Given the description of an element on the screen output the (x, y) to click on. 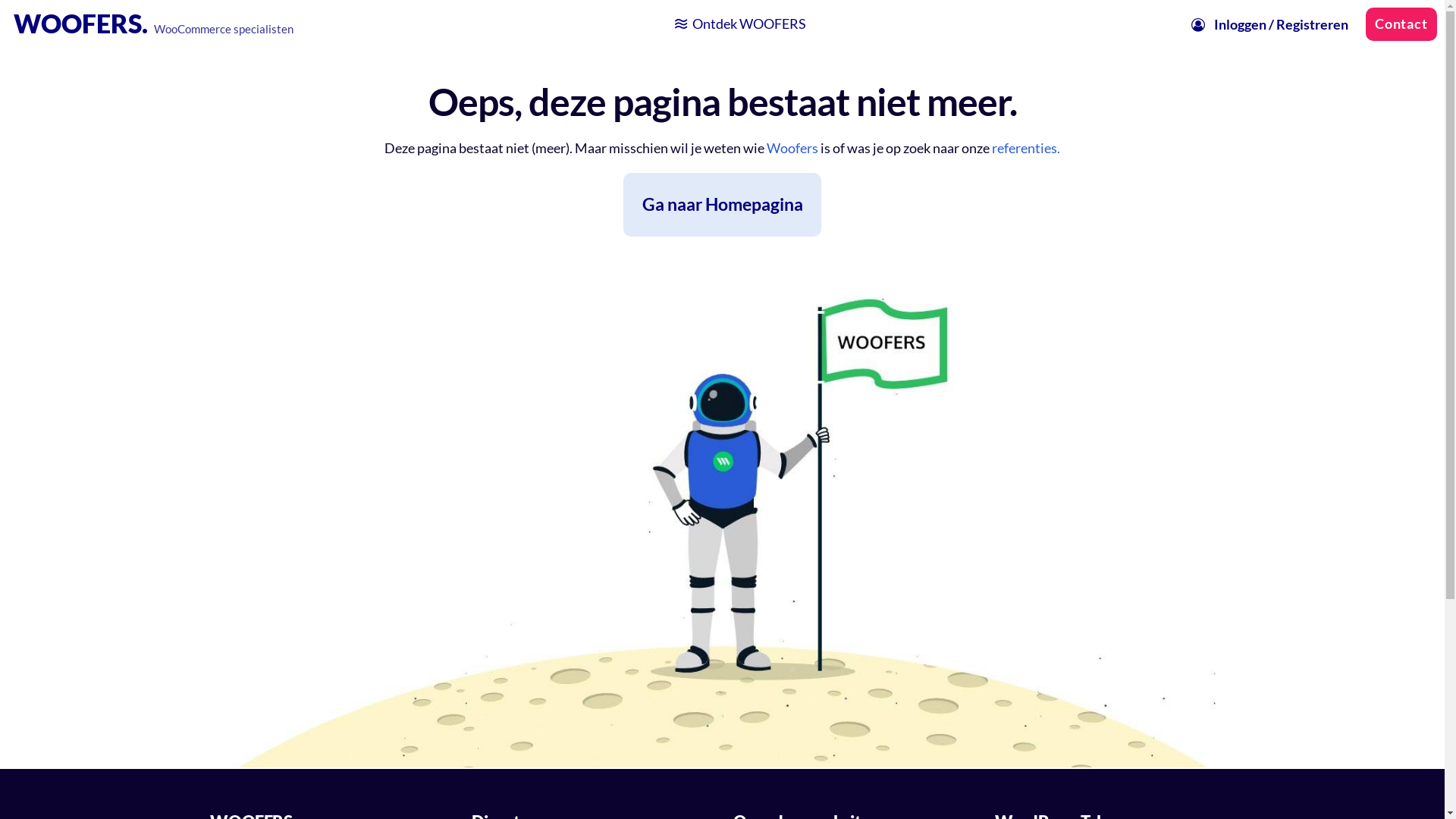
Contact Element type: text (1401, 23)
Ontdek WOOFERS Element type: text (738, 24)
referenties. Element type: text (1025, 148)
WOOFERS.WooCommerce specialisten Element type: text (153, 22)
Inloggen / Registreren Element type: text (1268, 24)
Ga naar Homepagina Element type: text (722, 204)
Woofers Element type: text (792, 148)
